Given the description of an element on the screen output the (x, y) to click on. 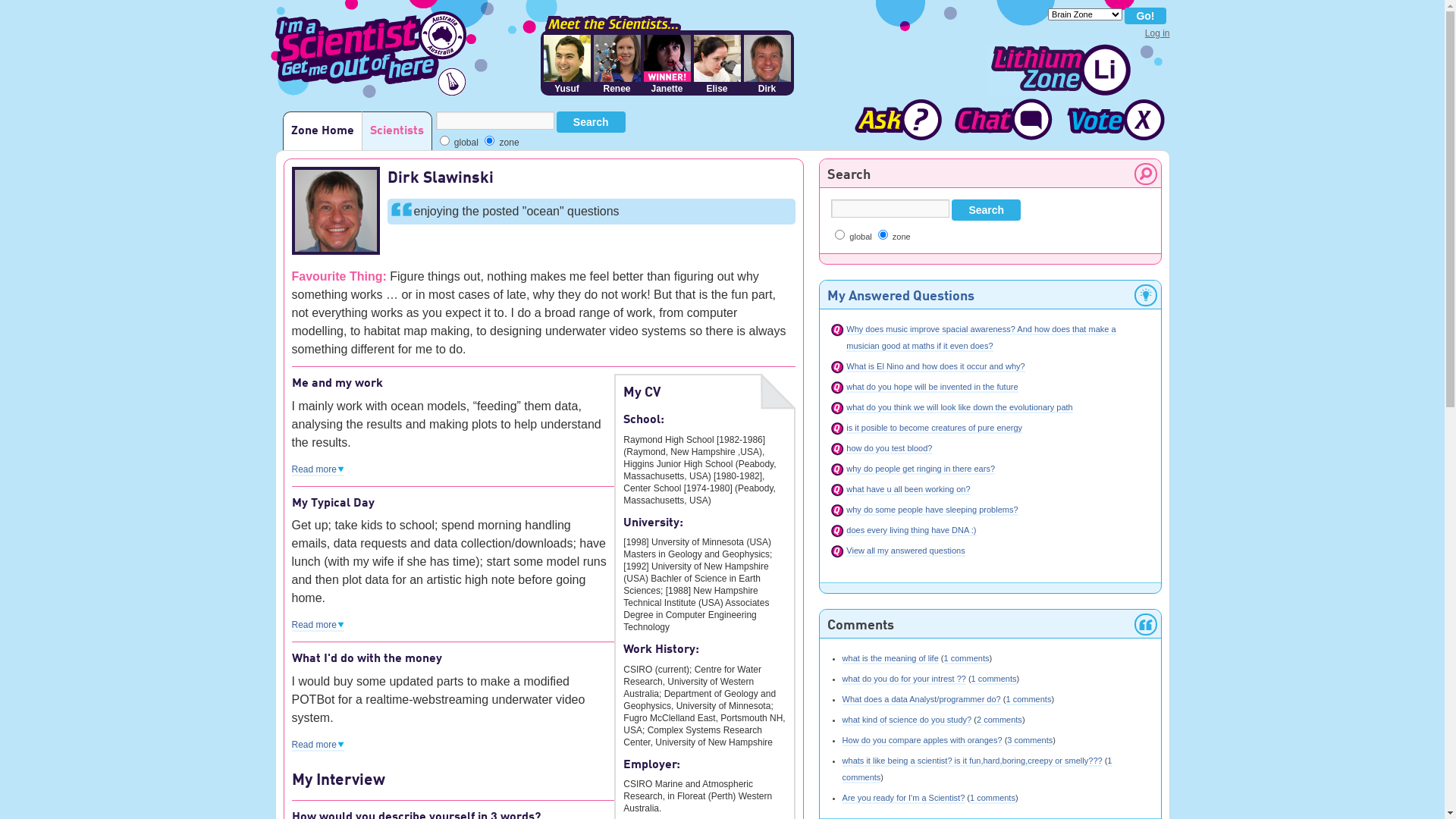
How do you compare apples with oranges? Element type: text (922, 740)
what do you hope will be invented in the future Element type: text (931, 387)
how do you test blood? Element type: text (888, 448)
Go to Zone home Element type: hover (1059, 70)
what do you do for your intrest ?? Element type: text (904, 679)
My Answered Questions Element type: text (900, 296)
1 comments Element type: text (1028, 699)
Search Element type: text (590, 121)
2 comments Element type: text (999, 720)
Search Element type: text (985, 209)
1 comments Element type: text (966, 658)
Are you ready for I'm a Scientist? Element type: text (903, 798)
why do some people have sleeping problems? Element type: text (931, 510)
what is the meaning of life Element type: text (890, 658)
What does a data Analyst/programmer do? Element type: text (921, 699)
1 comments Element type: text (977, 769)
what kind of science do you study? Element type: text (907, 720)
Read more Element type: text (317, 745)
What is El Nino and how does it occur and why? Element type: text (935, 366)
Read more Element type: text (317, 625)
what have u all been working on? Element type: text (907, 489)
1 comments Element type: text (993, 679)
Scientists Element type: text (395, 130)
Elise Element type: text (716, 64)
Read more Element type: text (317, 470)
Go! Element type: text (1144, 15)
3 comments Element type: text (1029, 740)
Log in Element type: text (1157, 33)
Dirk Element type: text (766, 64)
is it posible to become creatures of pure energy Element type: text (934, 428)
View all my answered questions Element type: text (905, 551)
Zone Home Element type: text (321, 130)
does every living thing have DNA :) Element type: text (910, 530)
why do people get ringing in there ears? Element type: text (920, 469)
1 comments Element type: text (992, 798)
Renee Element type: text (616, 64)
Yusuf Element type: text (565, 64)
Janette Element type: text (666, 64)
